Given the description of an element on the screen output the (x, y) to click on. 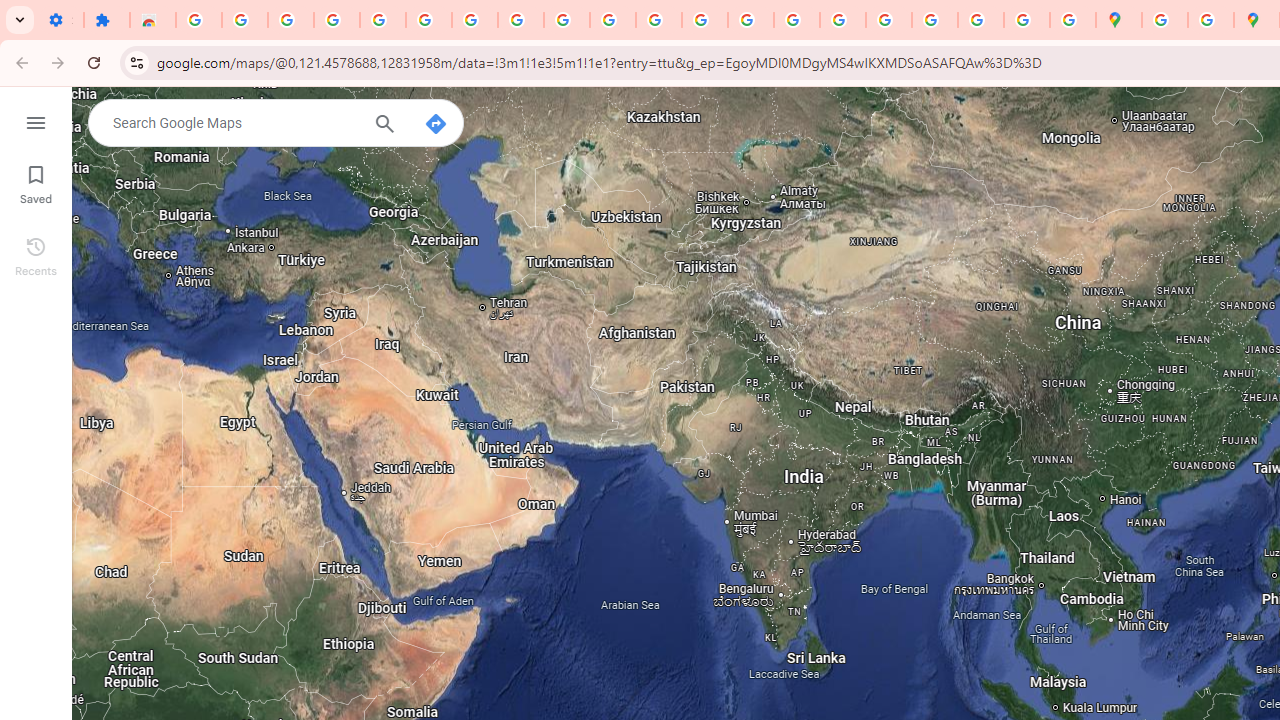
Google Maps (1118, 20)
Sign in - Google Accounts (1164, 20)
Menu (35, 120)
YouTube (613, 20)
Reviews: Helix Fruit Jump Arcade Game (153, 20)
Settings - On startup (60, 20)
